Given the description of an element on the screen output the (x, y) to click on. 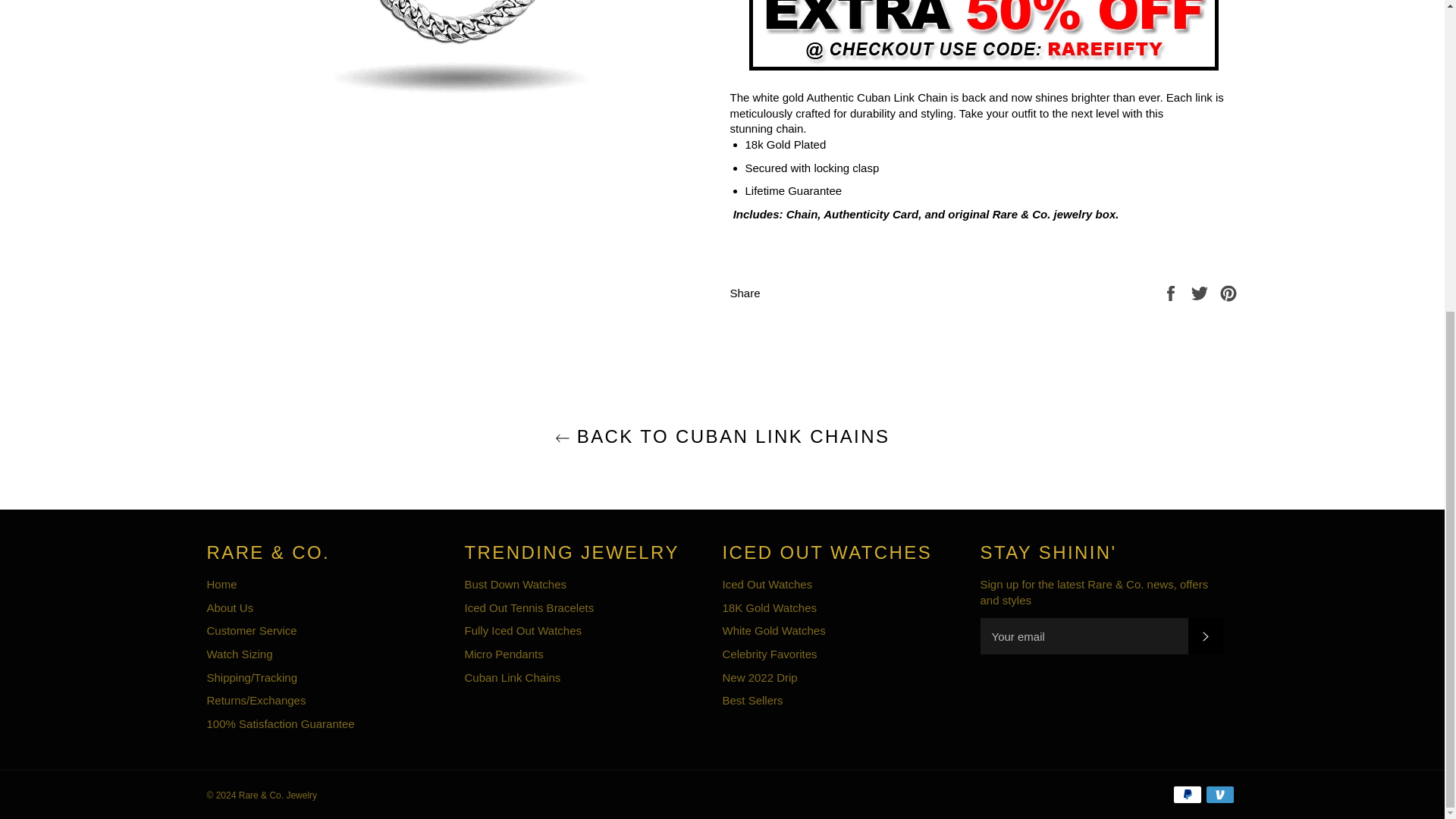
Share on Facebook (1171, 291)
Pin on Pinterest (1228, 291)
Tweet on Twitter (1201, 291)
